Given the description of an element on the screen output the (x, y) to click on. 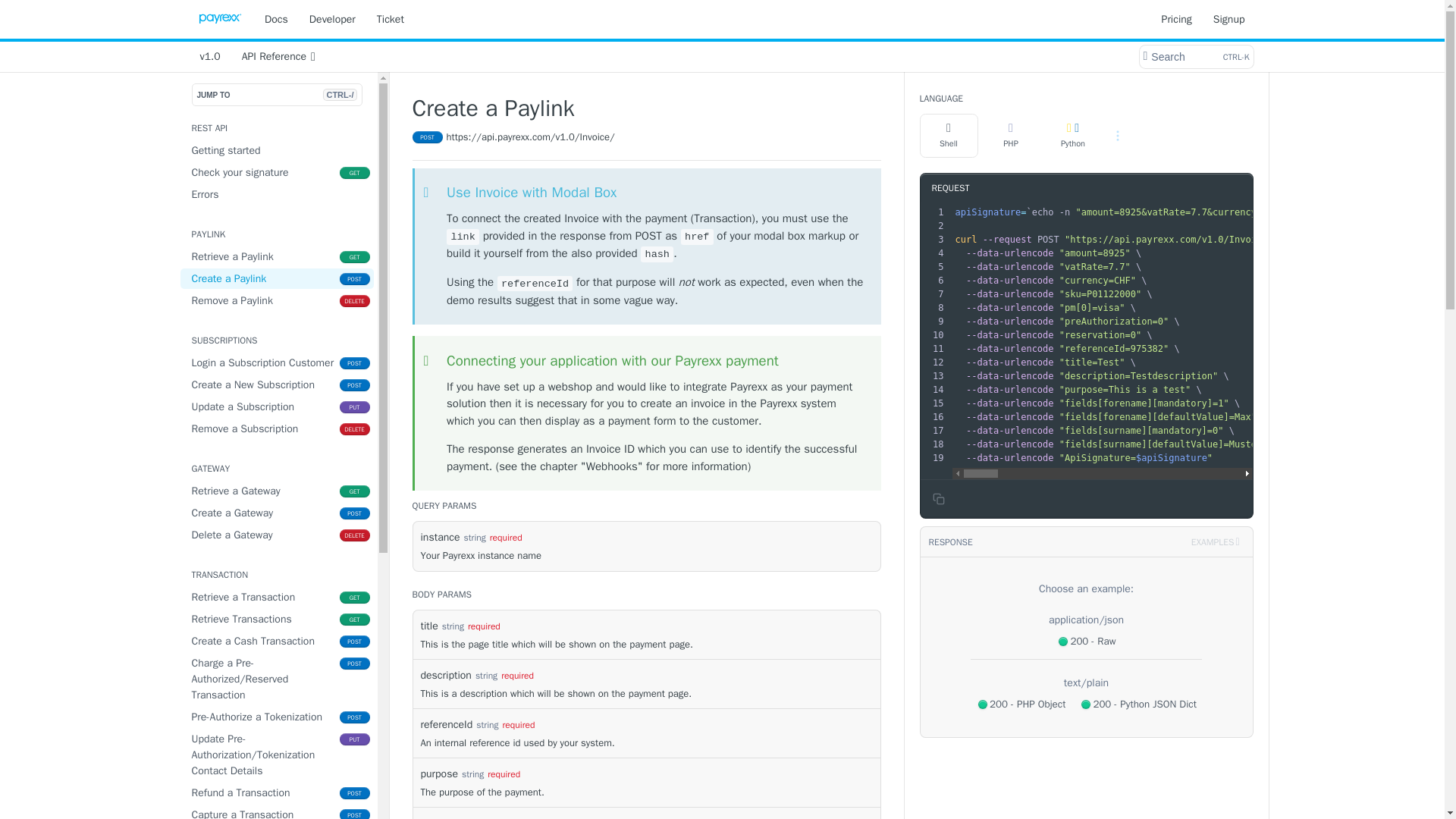
Ticket (277, 406)
Errors (277, 512)
Getting started (390, 18)
Developer (277, 300)
